Given the description of an element on the screen output the (x, y) to click on. 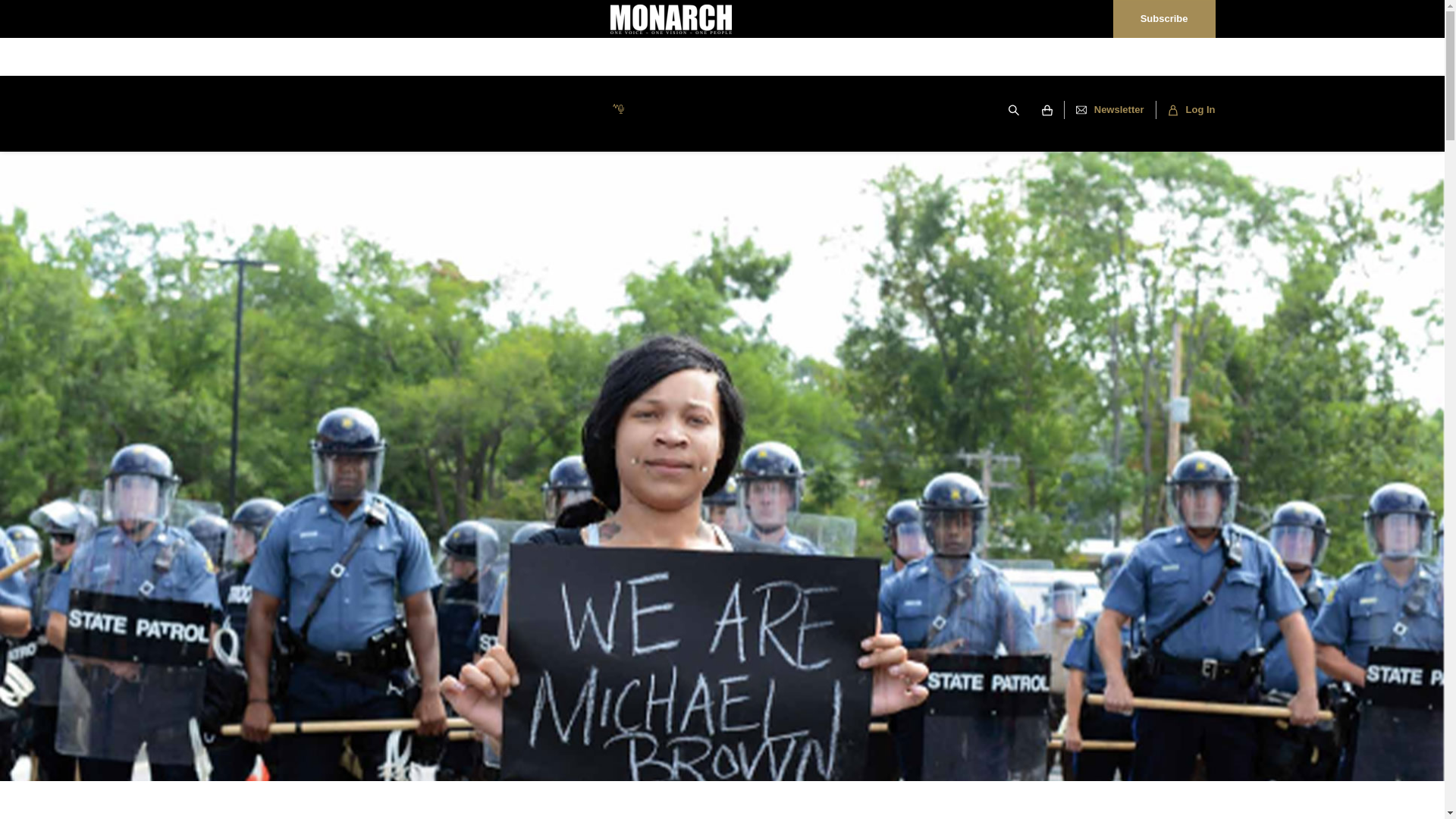
Log In (1185, 109)
VIDEO (797, 110)
VANGUARD NATION PODCAST (537, 110)
BRAND EXTENSIONS (697, 110)
EDITORIAL (402, 110)
JOIN THE CLUB (886, 110)
Newsletter (1110, 109)
Subscribe (1163, 18)
FEATURED (315, 110)
